Given the description of an element on the screen output the (x, y) to click on. 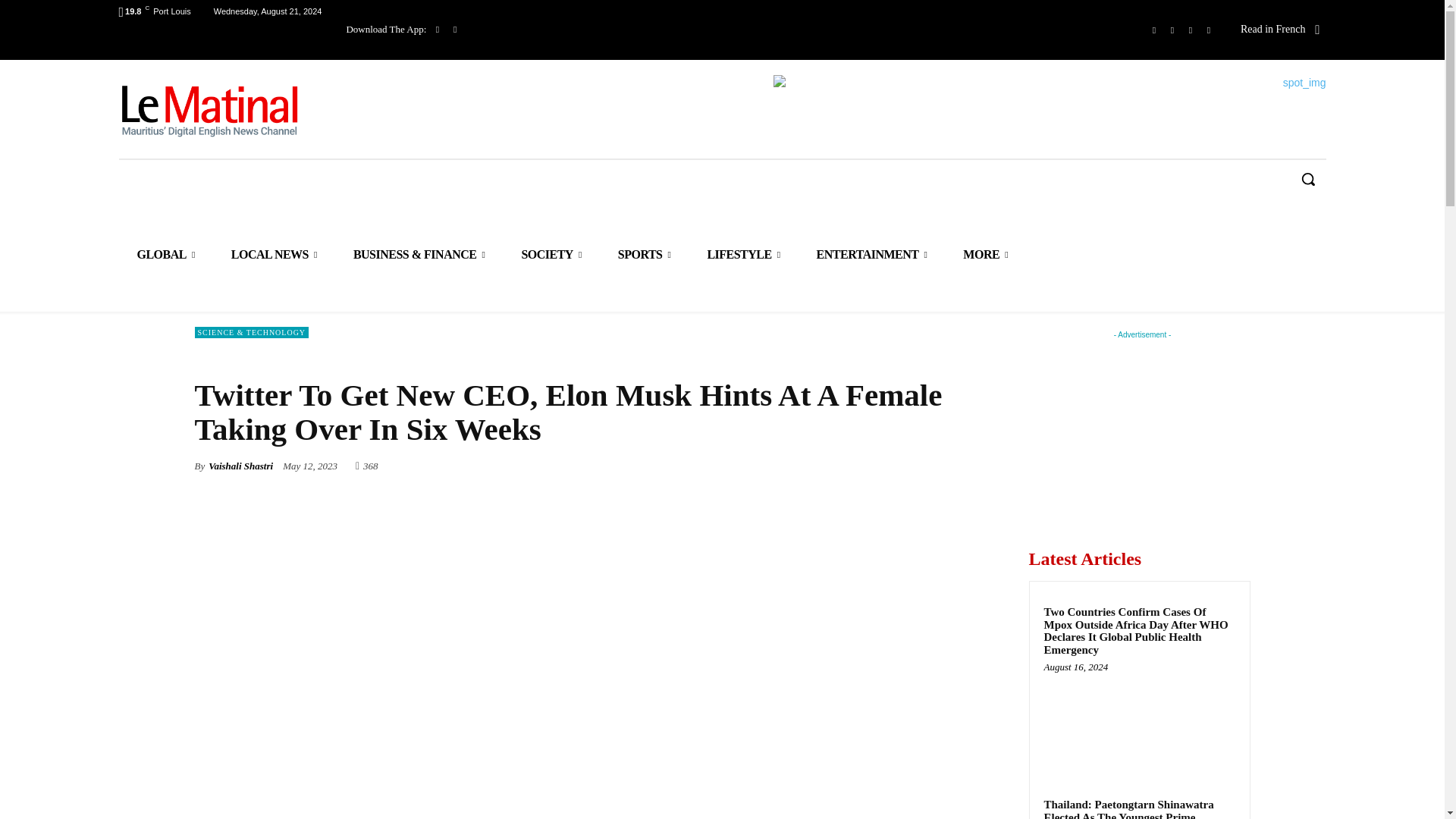
Instagram (1171, 30)
Facebook (1153, 30)
Youtube (1208, 30)
Twitter (1189, 30)
